Given the description of an element on the screen output the (x, y) to click on. 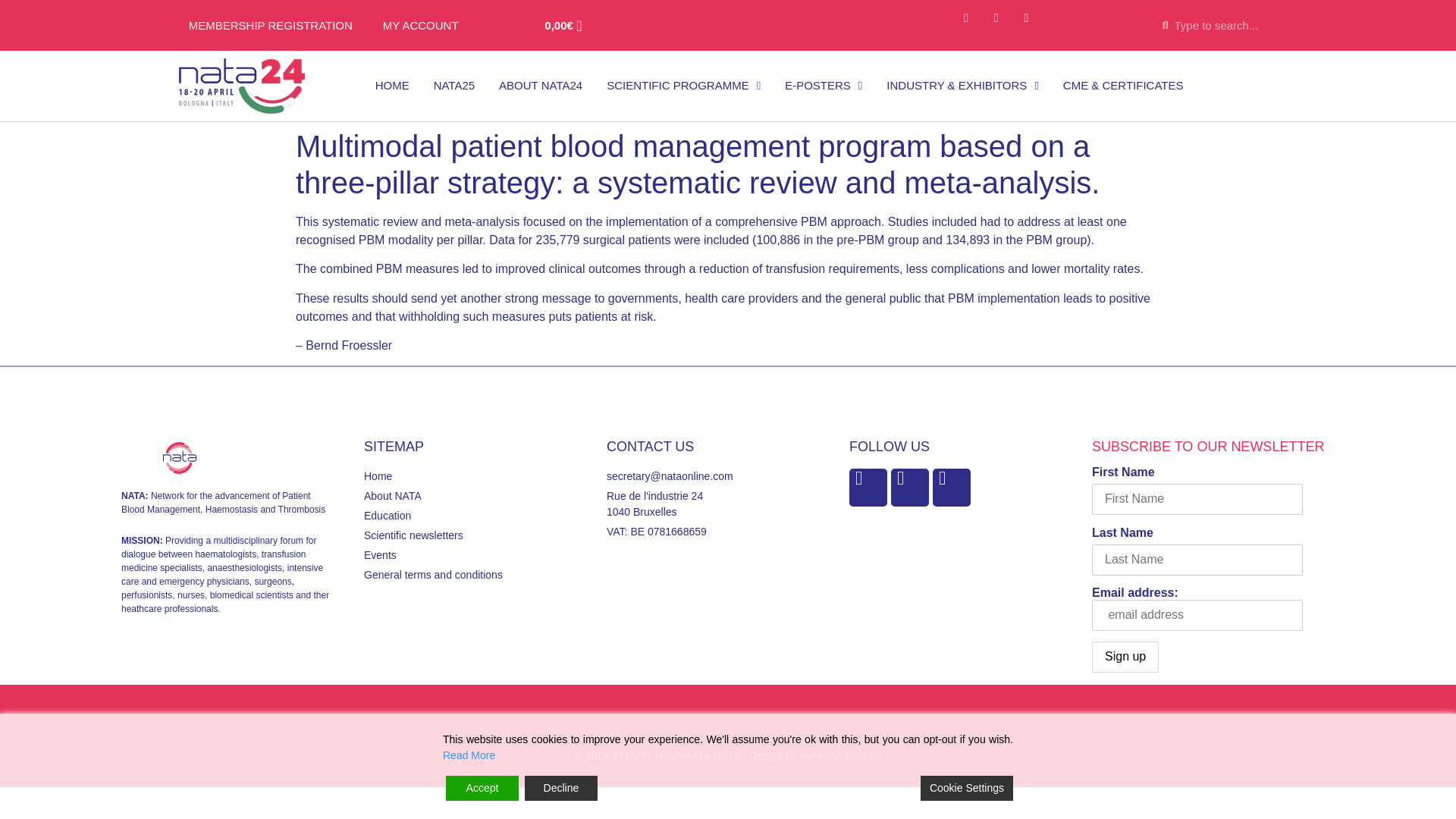
Sign up (1125, 656)
HOME (392, 85)
MY ACCOUNT (421, 25)
MEMBERSHIP REGISTRATION (270, 25)
SCIENTIFIC PROGRAMME (683, 85)
NATA25 (454, 85)
ABOUT NATA24 (540, 85)
E-POSTERS (824, 85)
